Given the description of an element on the screen output the (x, y) to click on. 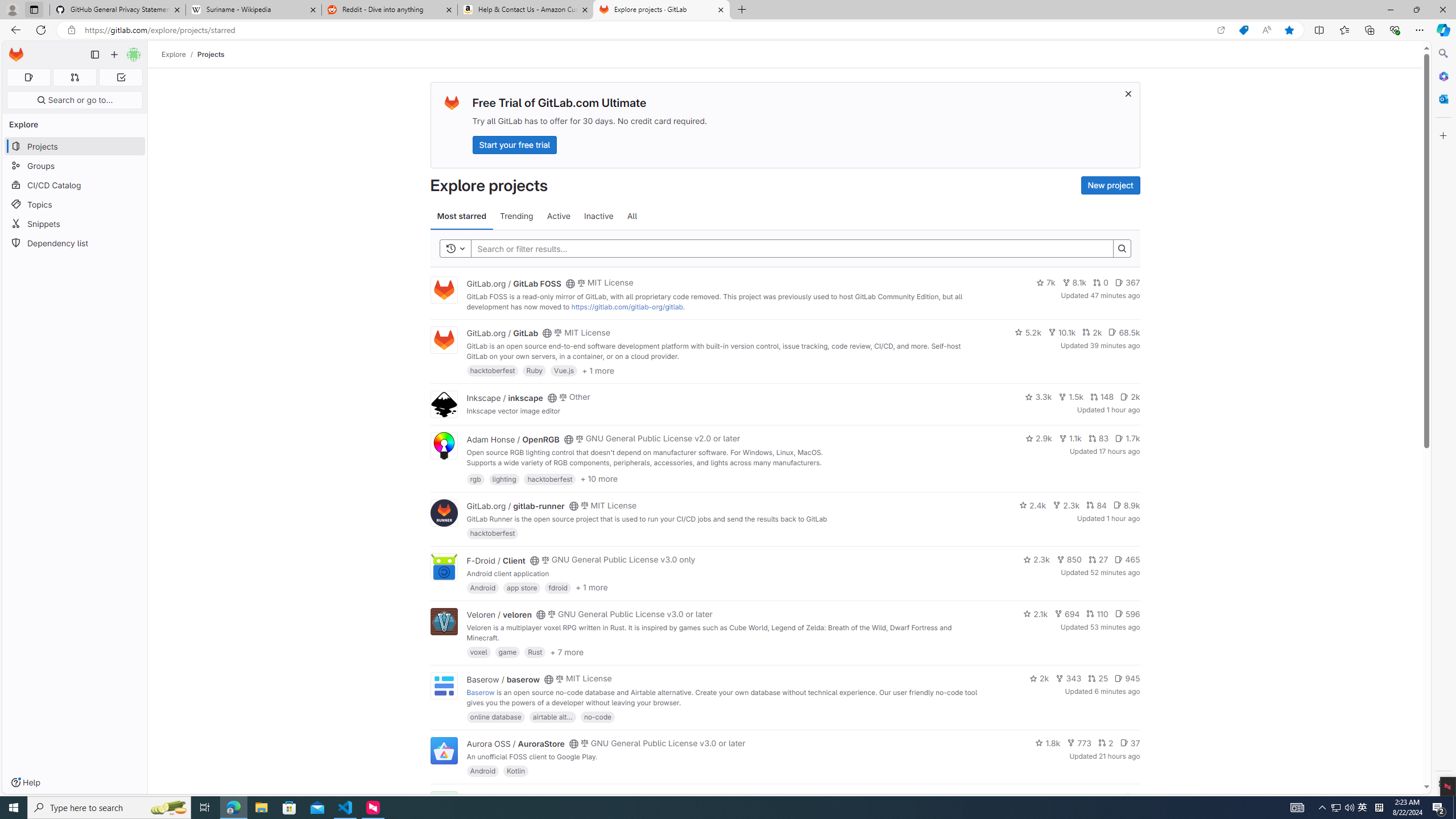
Trending (516, 216)
Projects (211, 53)
https://openrgb.org (563, 472)
CI/CD Catalog (74, 185)
lighting (504, 478)
Assigned issues 0 (28, 76)
Primary navigation sidebar (94, 54)
voxel (478, 651)
CI/CD Catalog (74, 185)
Merge requests 0 (74, 76)
